Given the description of an element on the screen output the (x, y) to click on. 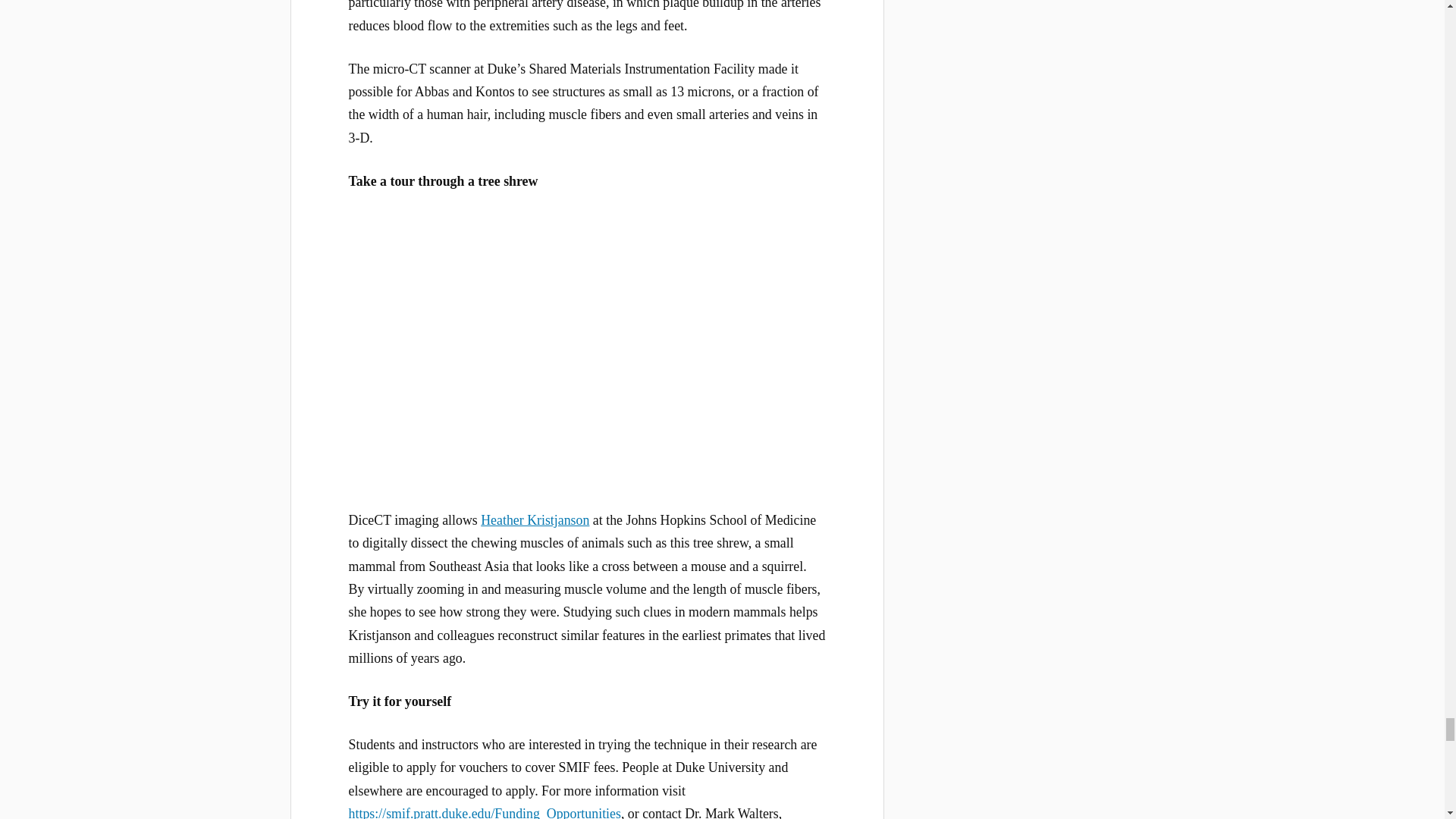
MicroCT Animation:  Southeast Asian Tree Shrew (587, 346)
